Given the description of an element on the screen output the (x, y) to click on. 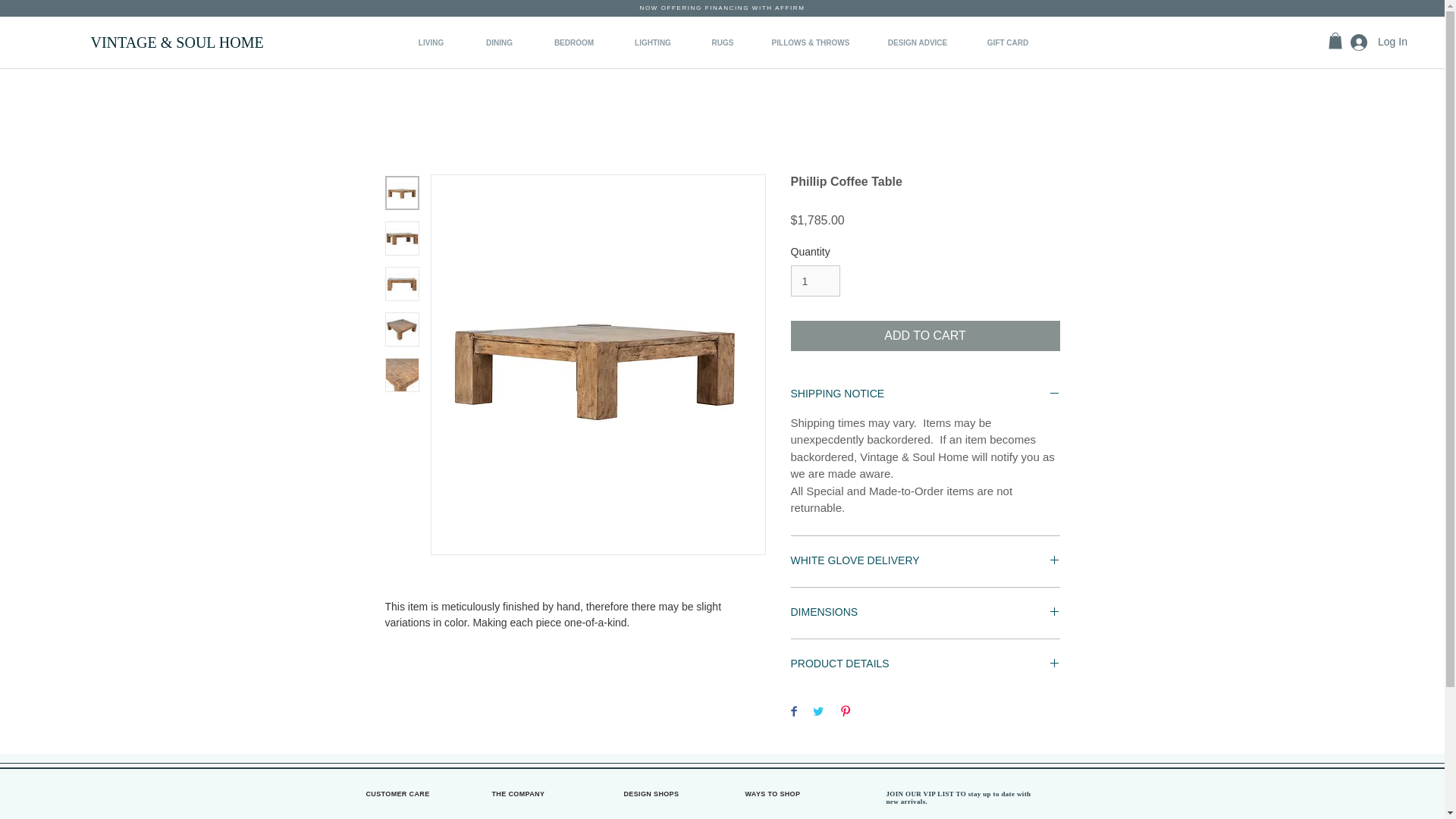
GIFT CARD (1008, 42)
Log In (1376, 42)
BEDROOM (573, 42)
PRODUCT DETAILS (924, 664)
LIGHTING (653, 42)
DIMENSIONS (924, 612)
DESIGN ADVICE (916, 42)
SHIPPING NOTICE (924, 394)
LIVING (430, 42)
RUGS (721, 42)
DINING (499, 42)
1 (815, 280)
WHITE GLOVE DELIVERY (924, 561)
ADD TO CART (924, 336)
